Given the description of an element on the screen output the (x, y) to click on. 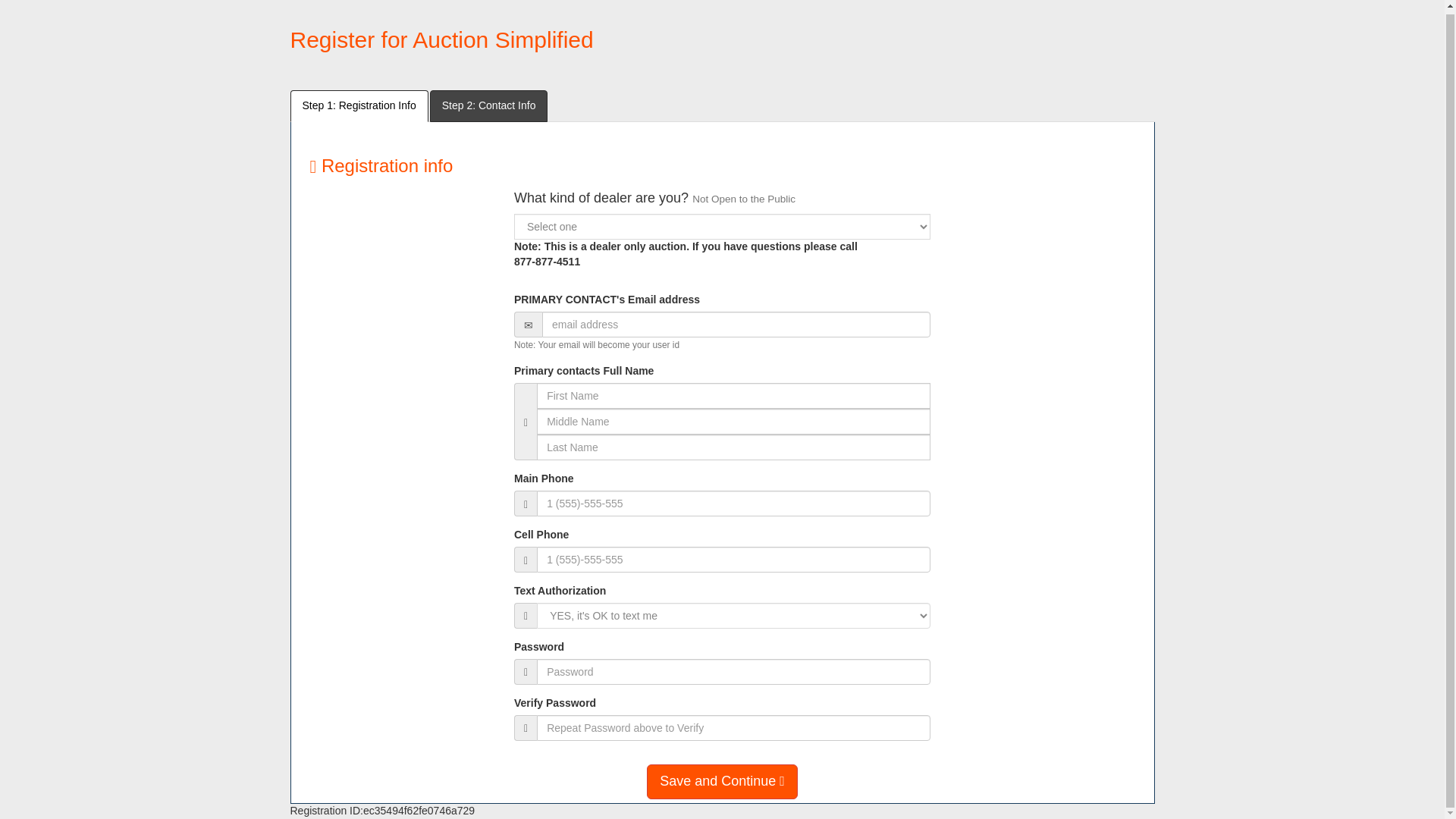
Step 1: Registration Info (358, 106)
Step 2: Contact Info (488, 106)
Save and Continue (721, 781)
